Given the description of an element on the screen output the (x, y) to click on. 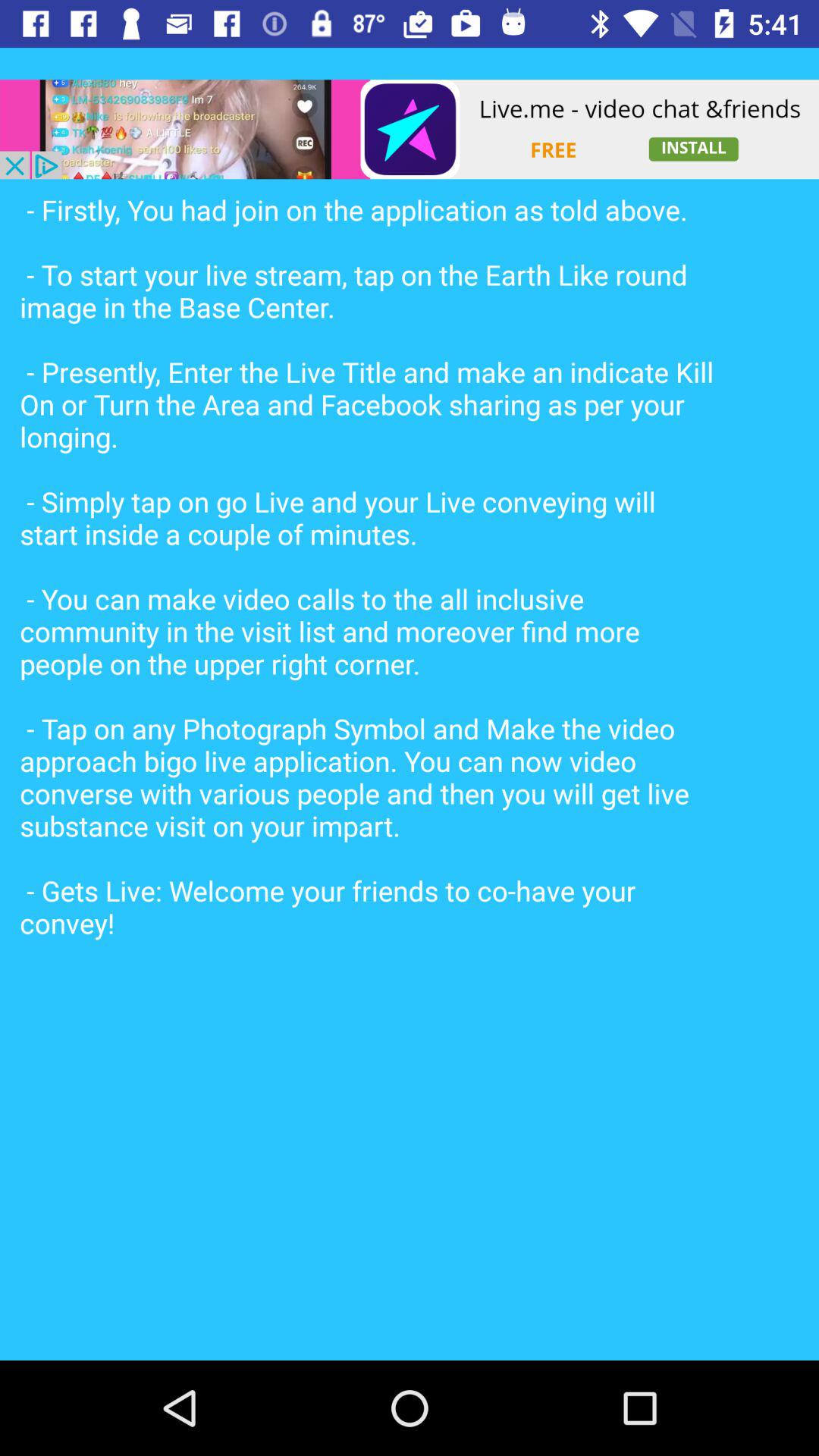
advertisement (409, 129)
